Given the description of an element on the screen output the (x, y) to click on. 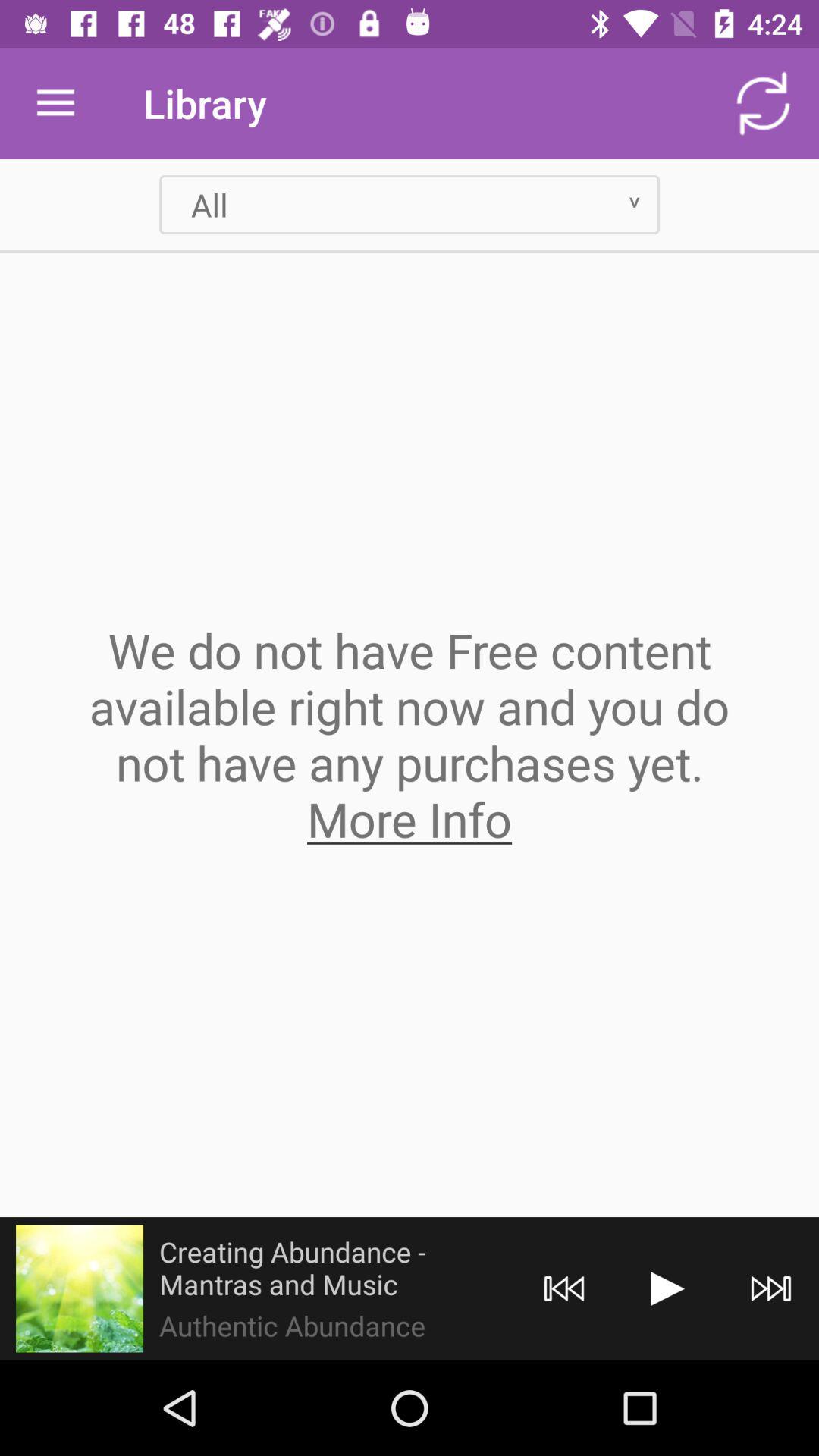
replay (564, 1288)
